Given the description of an element on the screen output the (x, y) to click on. 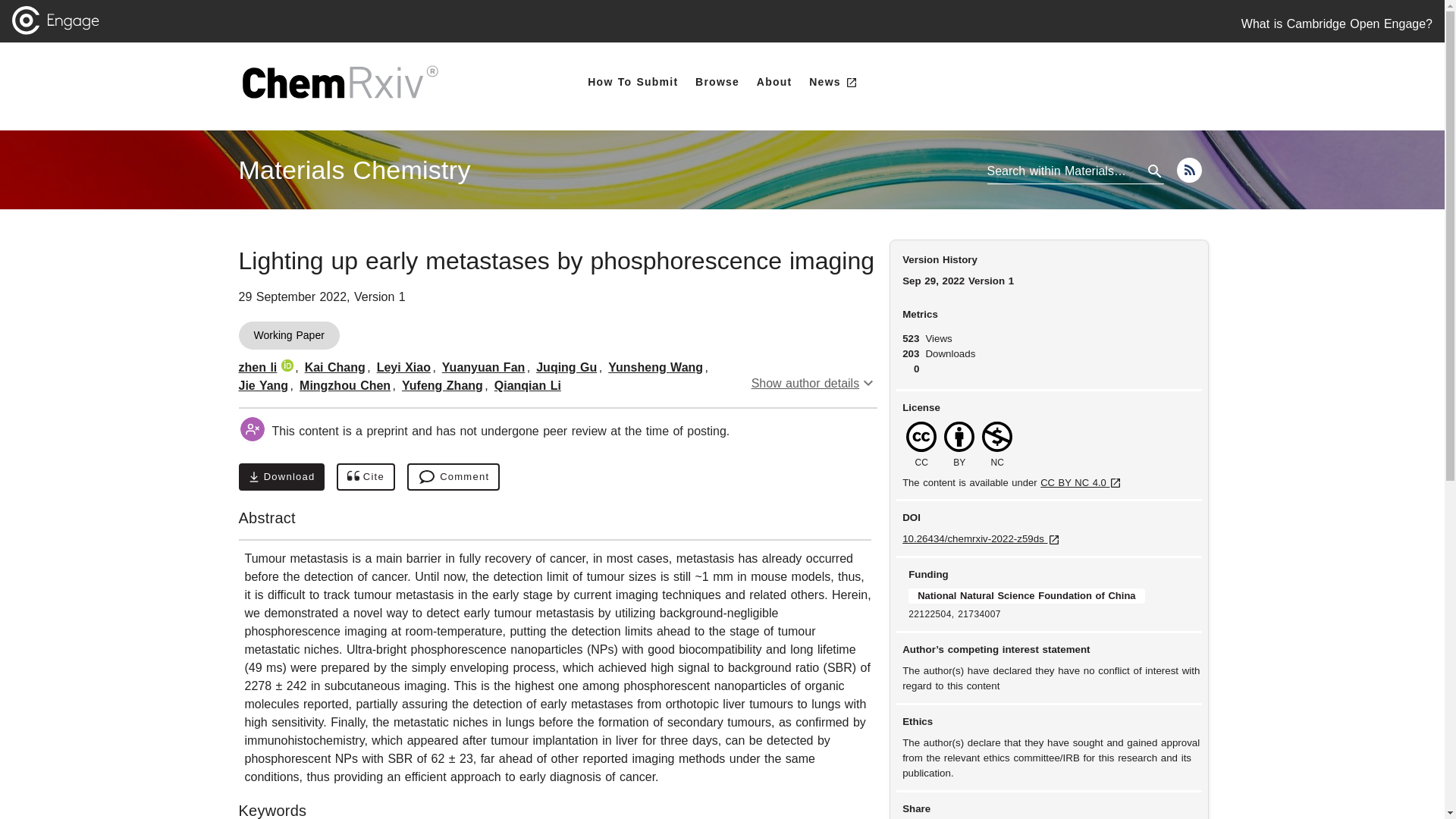
Yuanyuan Fan (483, 367)
Yunsheng Wang (655, 367)
Cite (365, 476)
Download (280, 476)
Jie Yang (263, 385)
Leyi Xiao (403, 367)
Comment (453, 476)
About (773, 81)
Juqing Gu (565, 367)
Browse (716, 81)
